Given the description of an element on the screen output the (x, y) to click on. 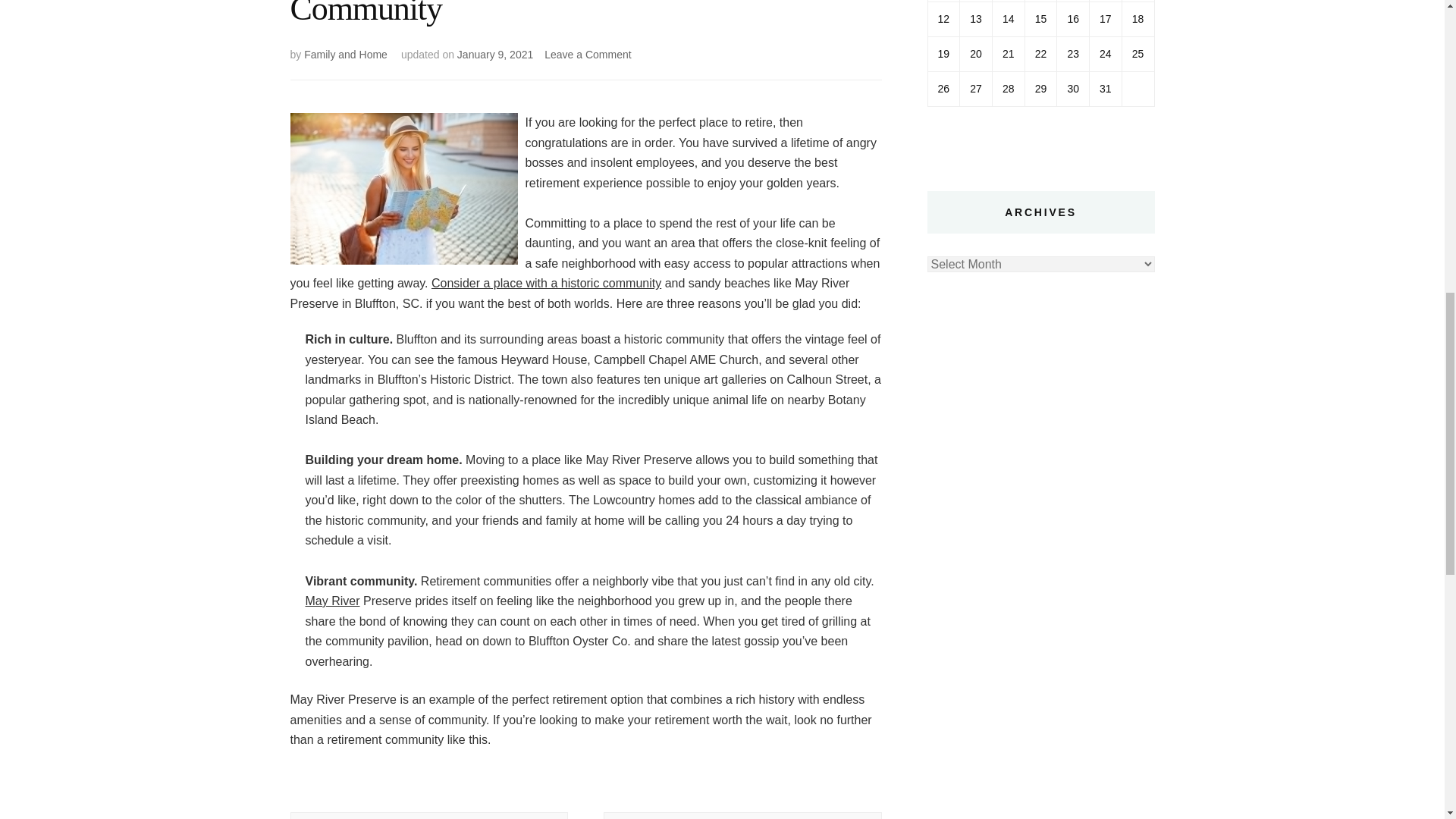
Consider a place with a historic community (545, 282)
like this (545, 282)
Bluffton sc communities, Lowcountry living (331, 600)
May River (331, 600)
Family and Home (345, 54)
January 9, 2021 (494, 54)
